Given the description of an element on the screen output the (x, y) to click on. 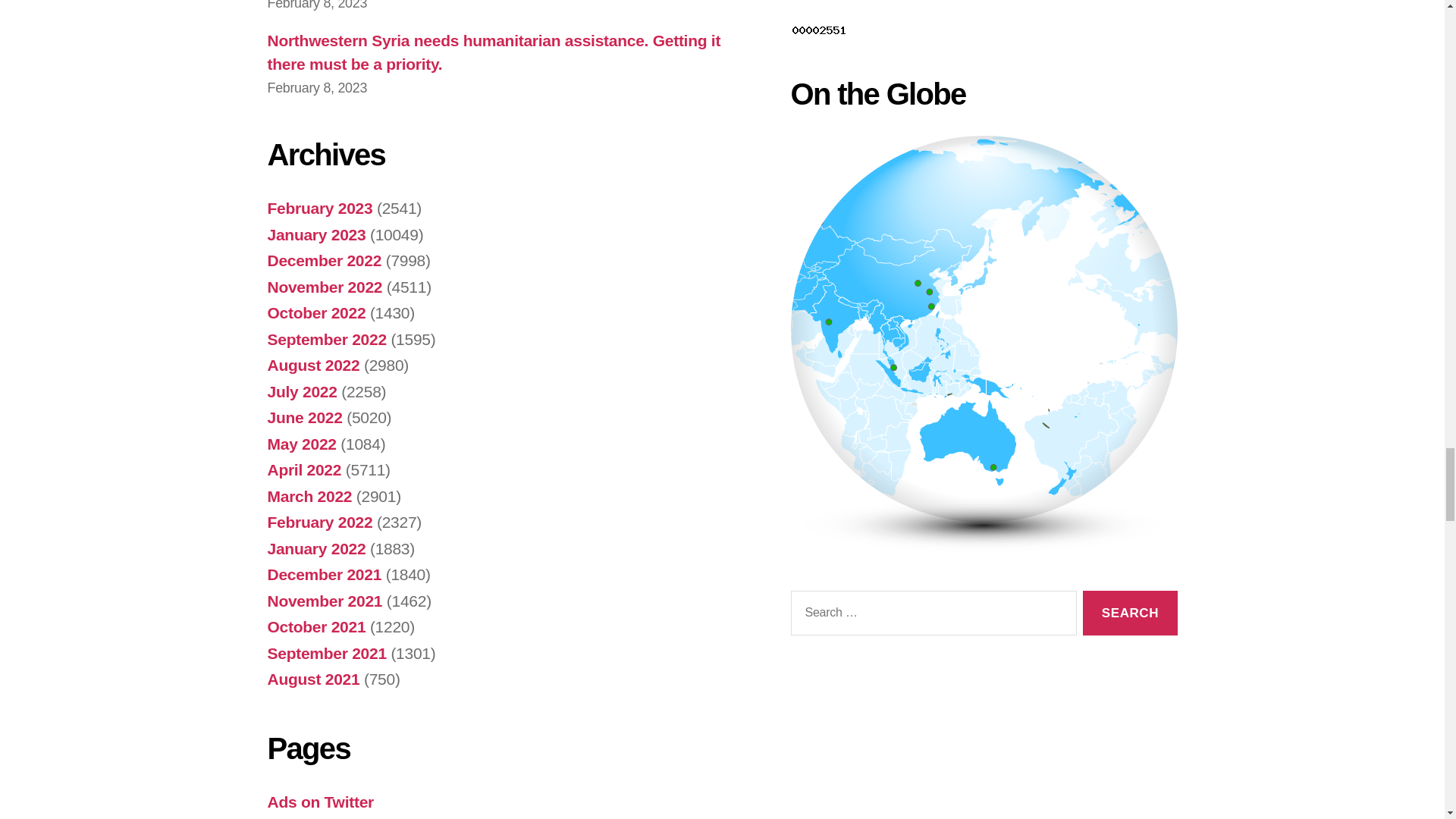
Search (1129, 612)
Search (1129, 612)
